Given the description of an element on the screen output the (x, y) to click on. 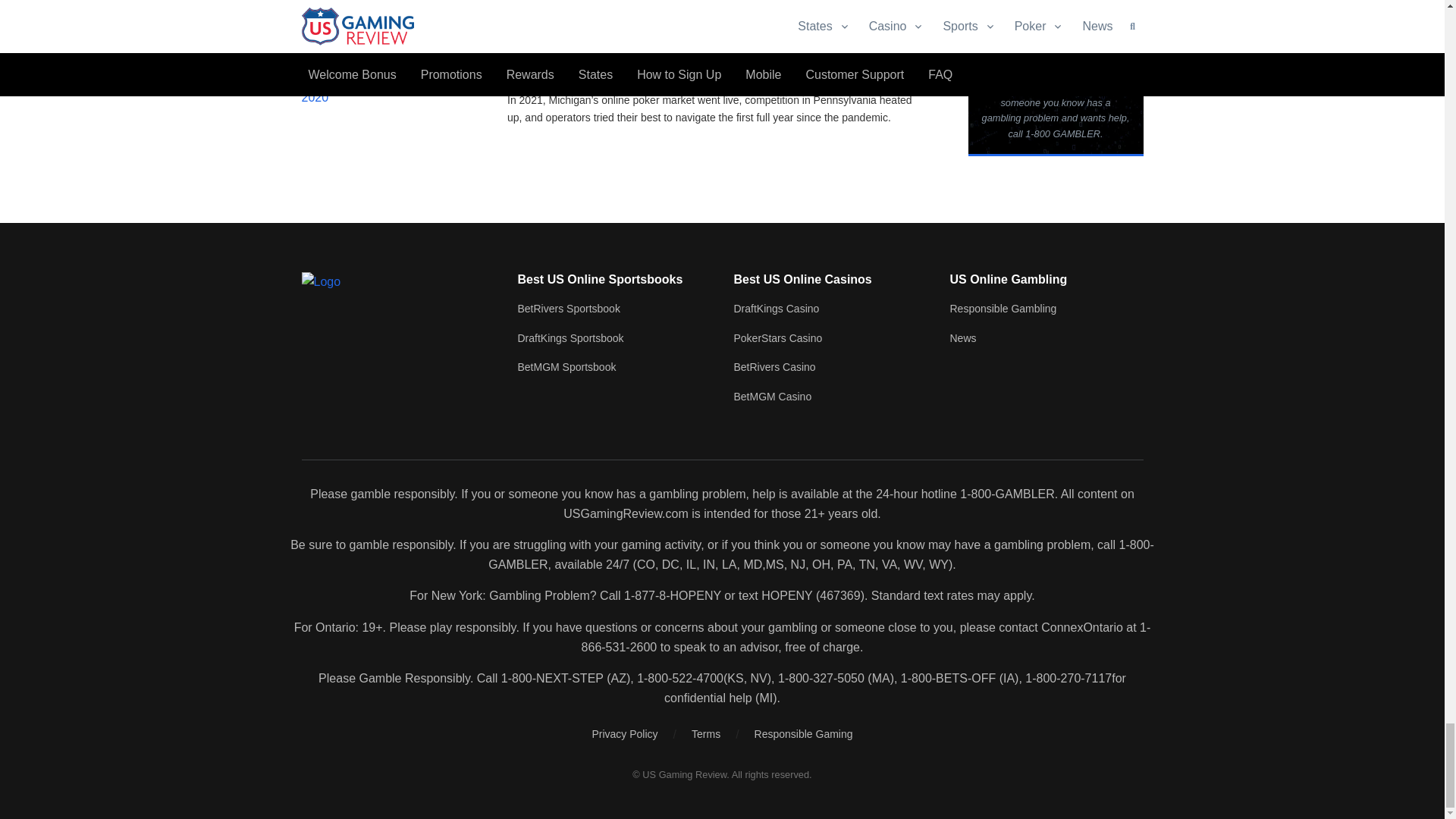
2022-01-31T01:33:44Z (547, 77)
